Given the description of an element on the screen output the (x, y) to click on. 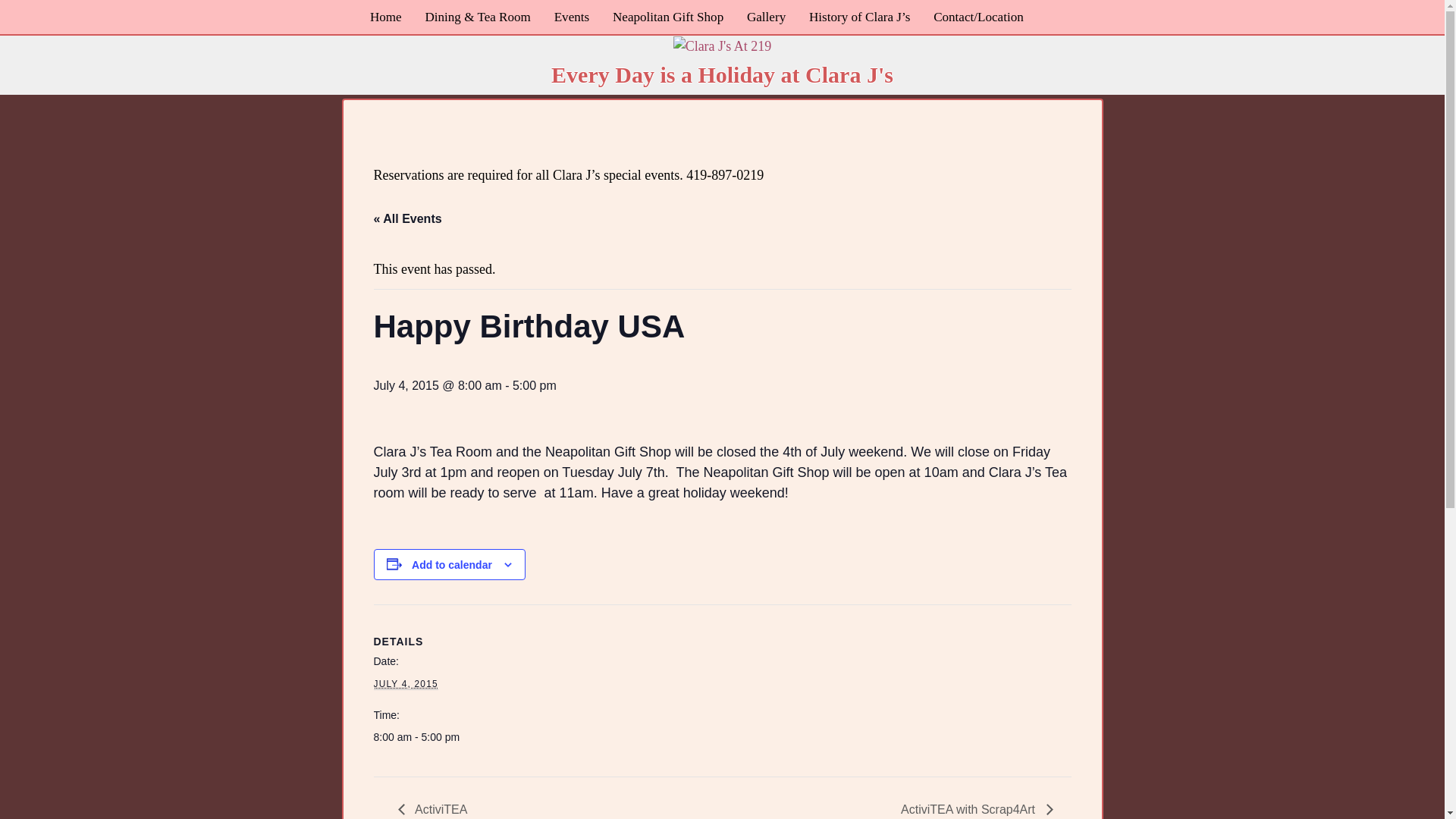
ActiviTEA with Scrap4Art (972, 809)
Gallery (766, 17)
ActiviTEA (436, 809)
2015-07-04 (436, 737)
Add to calendar (452, 564)
Neapolitan Gift Shop (668, 17)
Home (385, 17)
2015-07-04 (405, 684)
Events (570, 17)
